Given the description of an element on the screen output the (x, y) to click on. 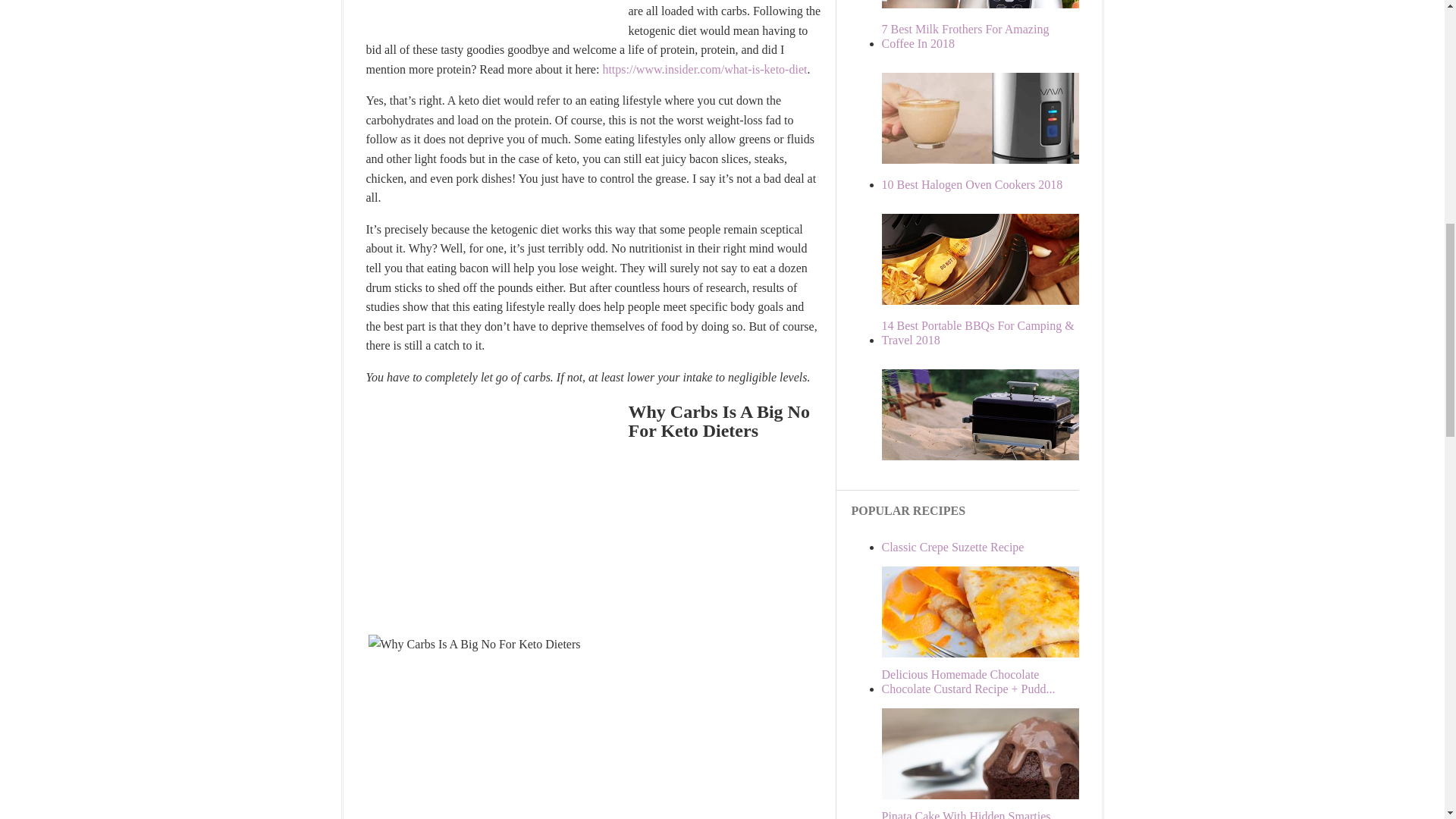
Best Portable BBQ (994, 504)
Best Milk Frother (994, 207)
Classic Crepe Suzette Recipe (994, 653)
Best Halogen Oven Cookers (994, 349)
Best Halogen Oven Cookers (971, 184)
Pinata Cake With Hidden Smarties Inside Recipe (964, 814)
Best Soup Maker Machines 2017 (994, 53)
Best Portable BBQ (977, 332)
Best Milk Frother (964, 35)
Classic Crepe Suzette Recipe (951, 546)
